Given the description of an element on the screen output the (x, y) to click on. 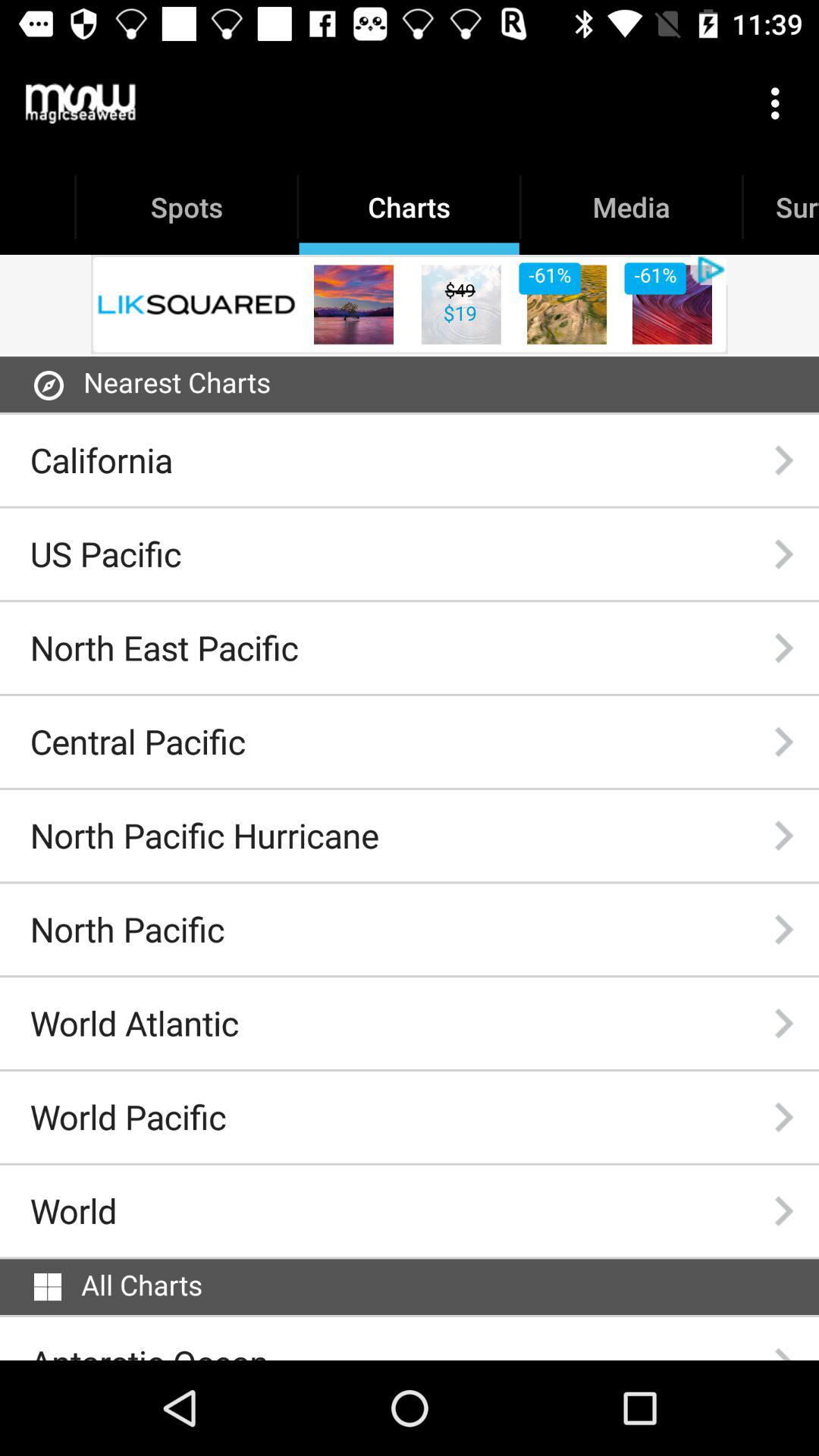
turn on the item above the nearest charts item (409, 304)
